Given the description of an element on the screen output the (x, y) to click on. 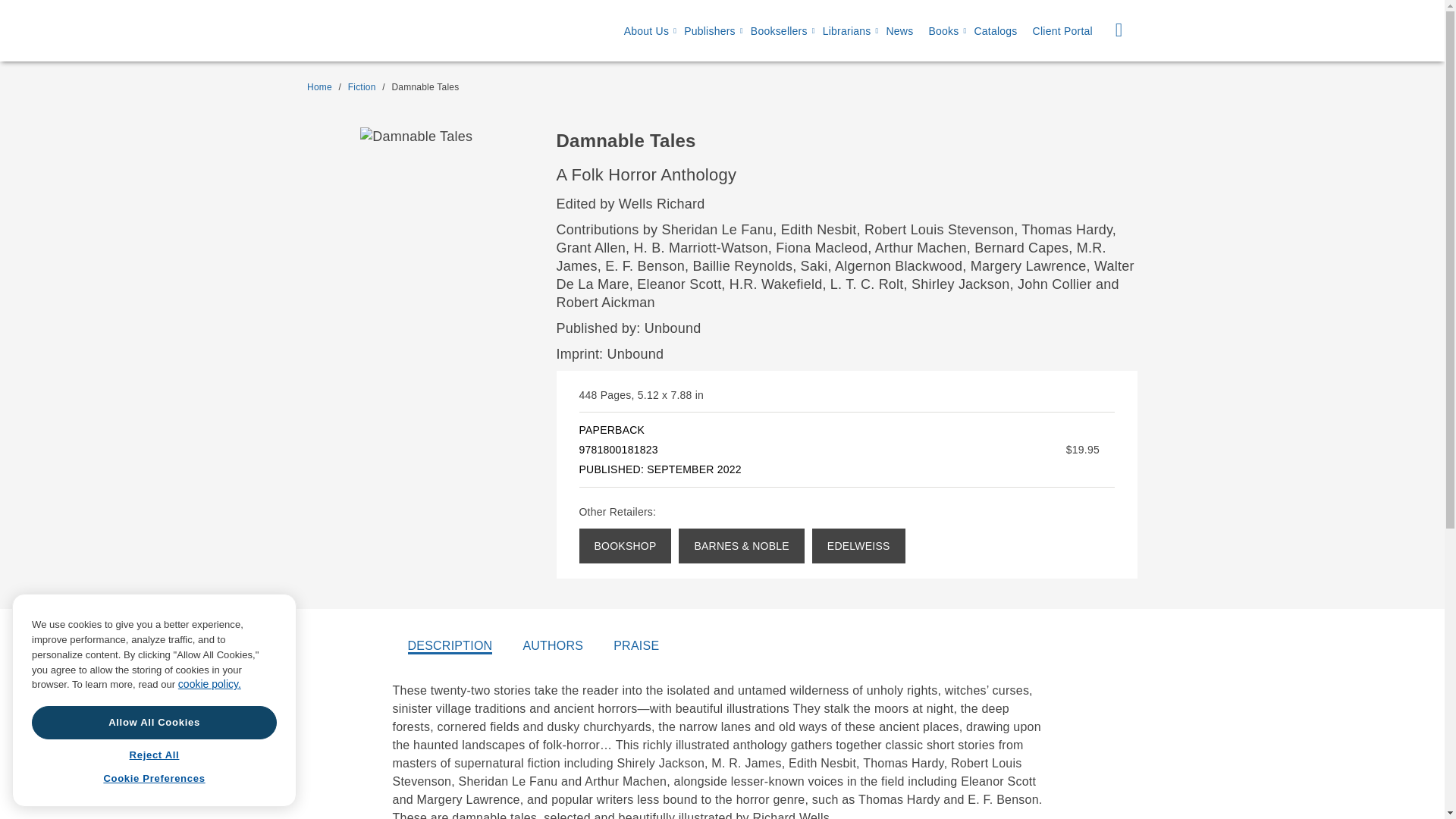
Back to homepage (319, 86)
Books (943, 30)
Edelweiss (858, 545)
Catalogs (995, 30)
Booksellers (779, 30)
Client Portal (1062, 30)
Home (319, 86)
News (898, 30)
View results for fiction (361, 86)
Librarians (846, 30)
Bookshop (625, 545)
Publishers (709, 30)
About Us (646, 30)
